Given the description of an element on the screen output the (x, y) to click on. 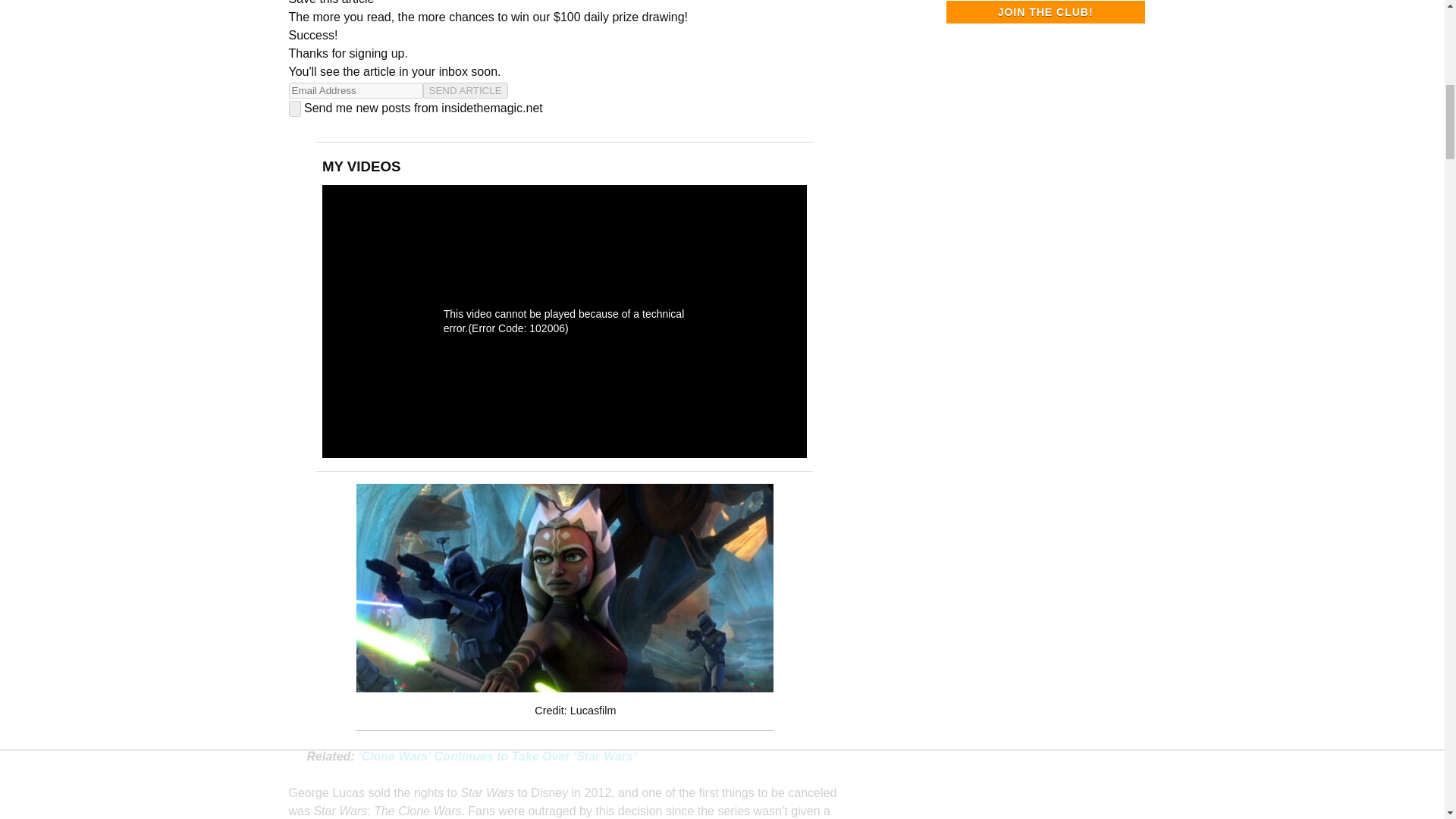
Join The Club! (1045, 11)
